Given the description of an element on the screen output the (x, y) to click on. 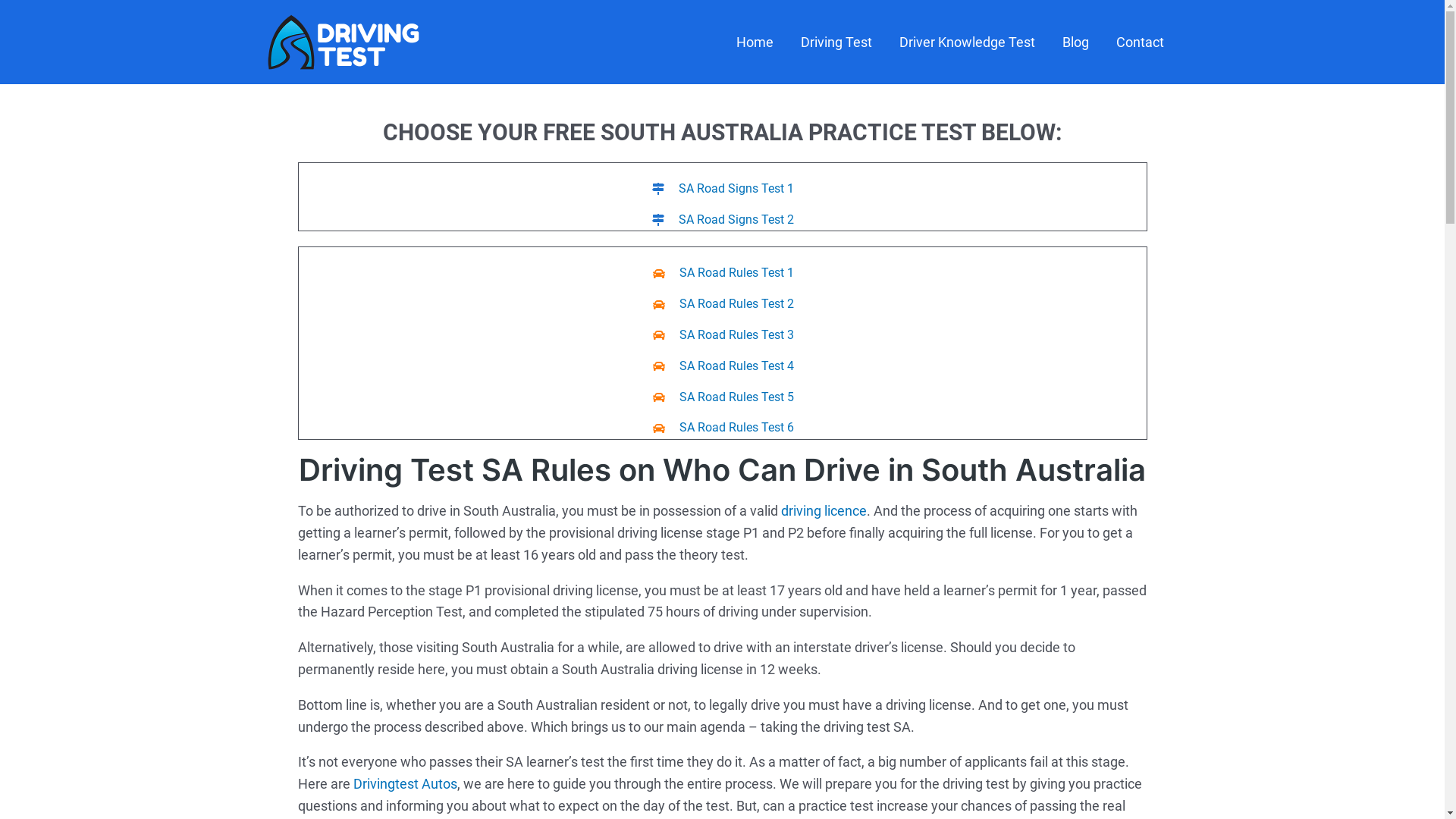
Home Element type: text (753, 41)
SA Road Signs Test 1 Element type: text (722, 189)
SA Road Rules Test 3 Element type: text (722, 335)
SA Road Signs Test 2 Element type: text (722, 220)
SA Road Rules Test 5 Element type: text (722, 397)
Drivingtest Autos Element type: text (405, 783)
SA Road Rules Test 4 Element type: text (722, 366)
driving licence Element type: text (823, 510)
Driver Knowledge Test Element type: text (966, 41)
SA Road Rules Test 6 Element type: text (722, 428)
Blog Element type: text (1074, 41)
Driving Test Element type: text (836, 41)
Contact Element type: text (1139, 41)
SA Road Rules Test 1 Element type: text (722, 273)
SA Road Rules Test 2 Element type: text (722, 304)
